Given the description of an element on the screen output the (x, y) to click on. 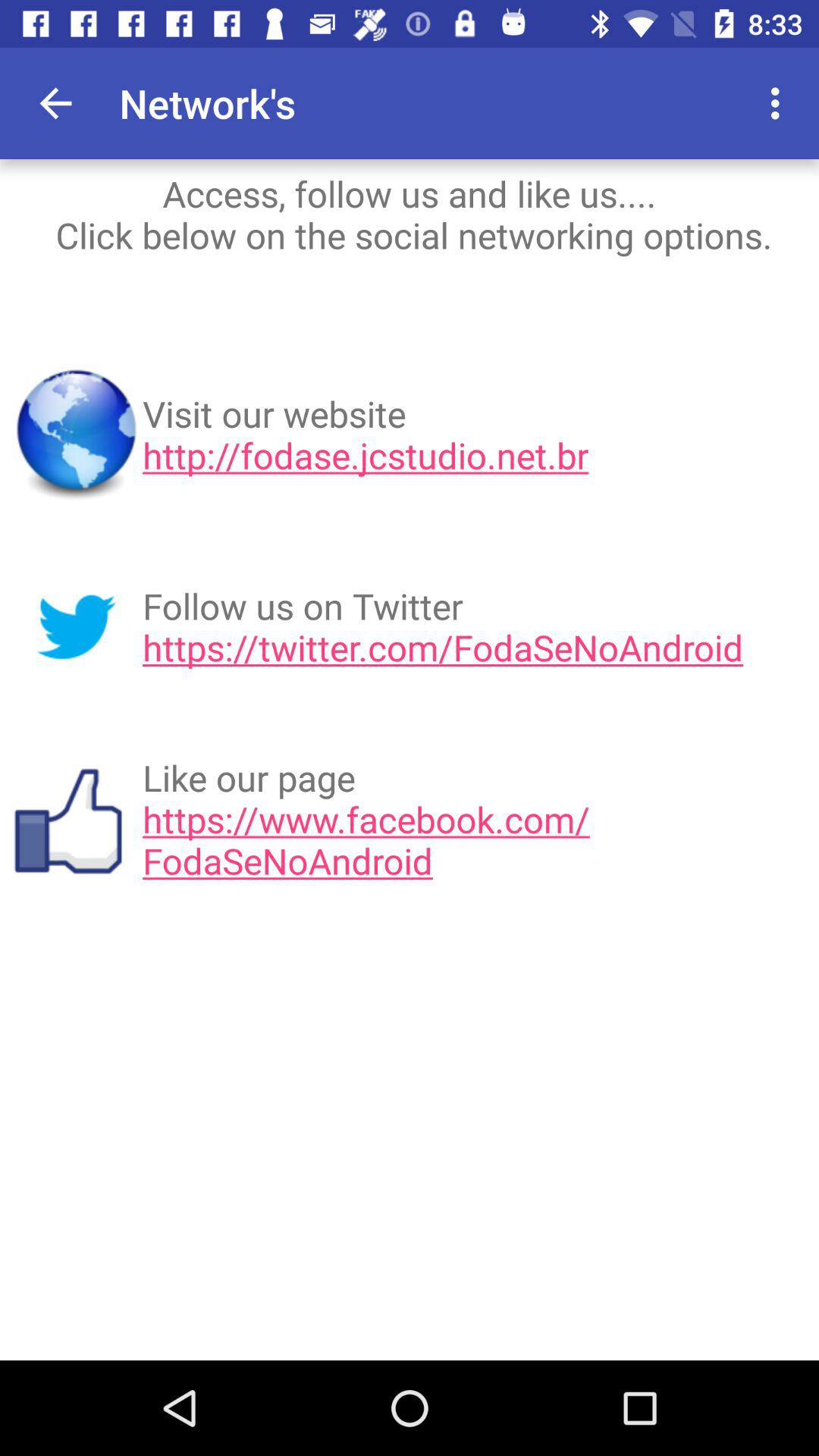
choose icon above access follow us item (691, 103)
